Given the description of an element on the screen output the (x, y) to click on. 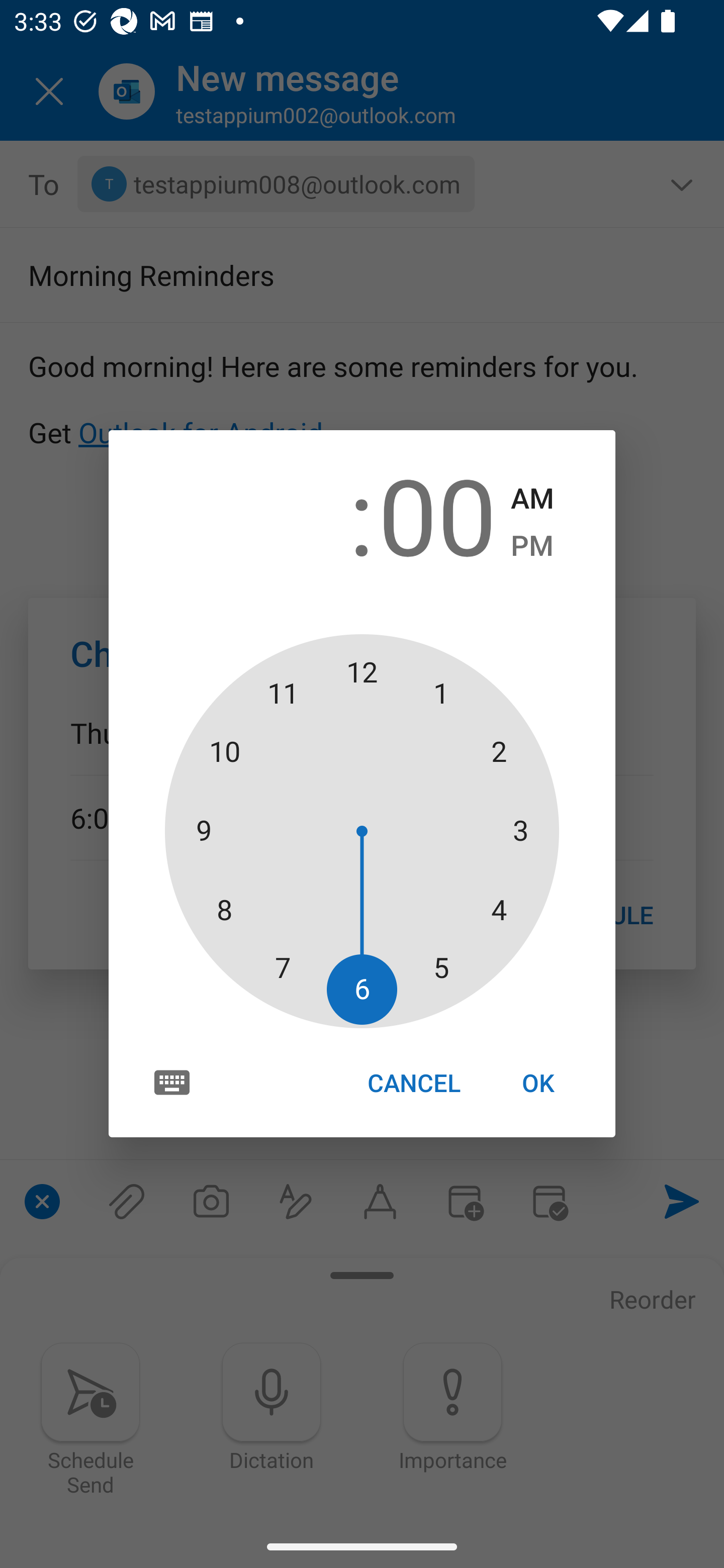
6 (285, 513)
00 (436, 513)
AM (532, 498)
PM (532, 546)
CANCEL (413, 1082)
OK (537, 1082)
Switch to text input mode for the time input. (171, 1081)
